Given the description of an element on the screen output the (x, y) to click on. 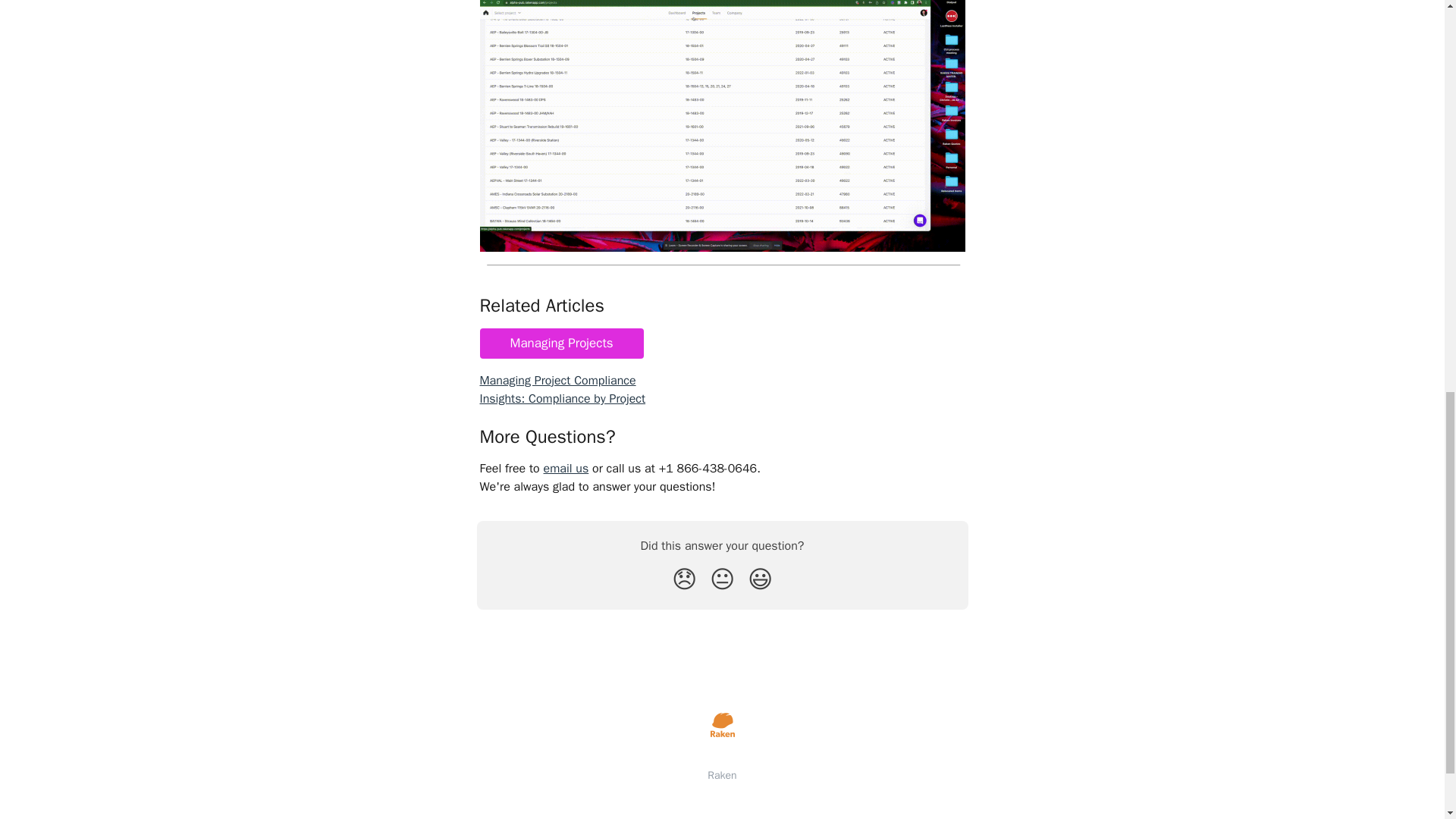
Managing Projects (561, 343)
Raken (721, 775)
email us (566, 468)
Managing Project Compliance (556, 380)
Insights: Compliance by Project (562, 398)
